Given the description of an element on the screen output the (x, y) to click on. 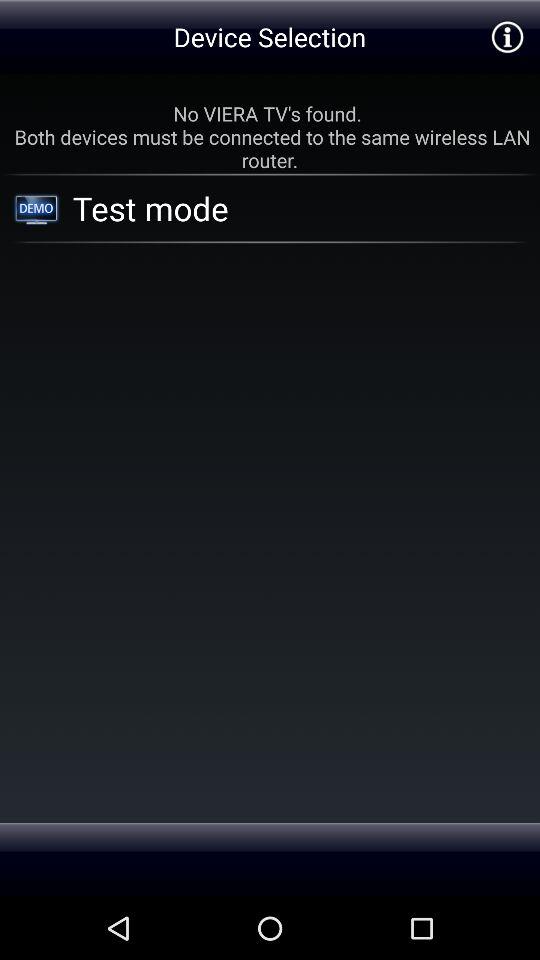
launch the app below the no viera tv (275, 208)
